Given the description of an element on the screen output the (x, y) to click on. 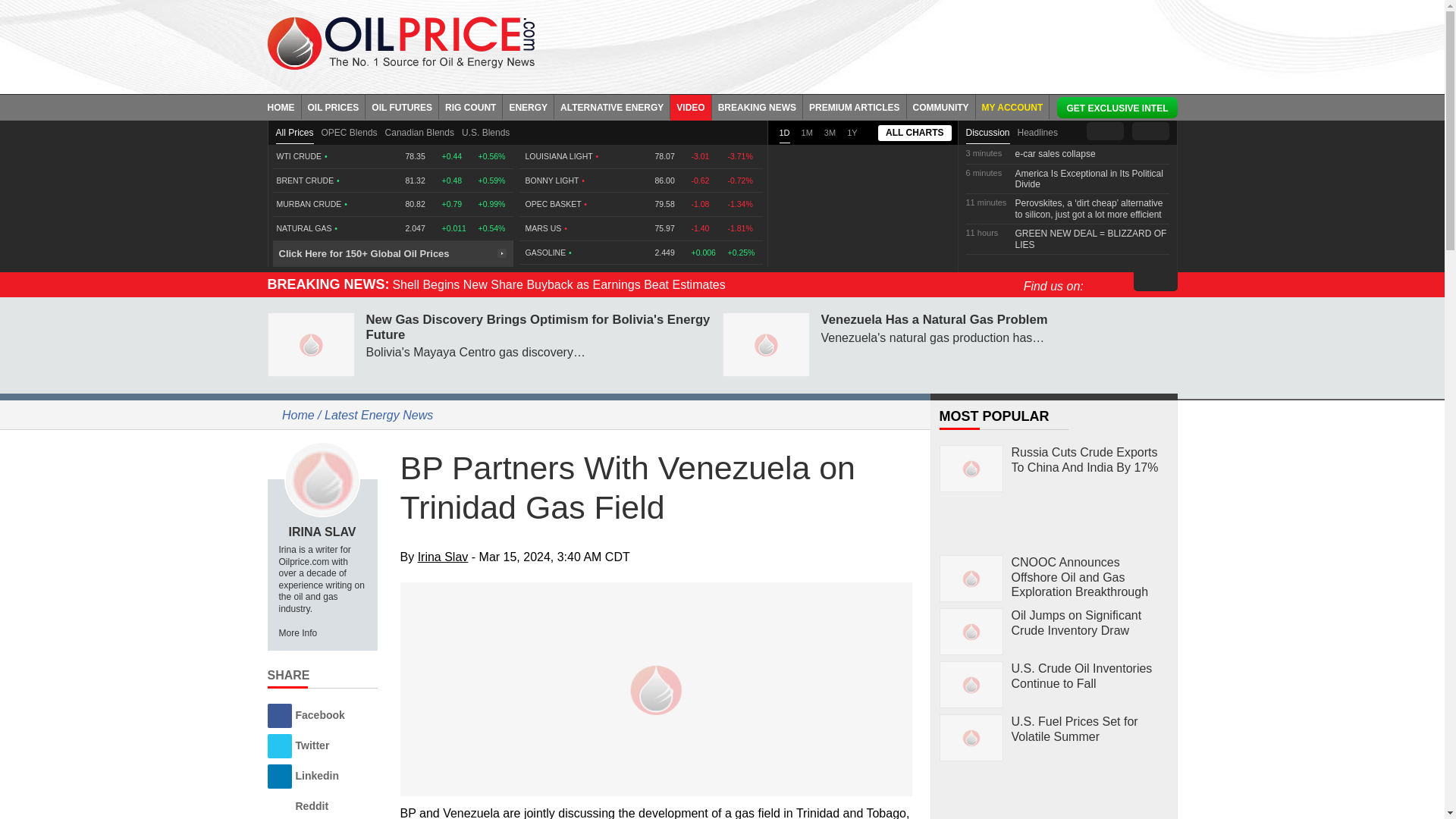
HOME (283, 106)
BREAKING NEWS (757, 106)
MY ACCOUNT (1012, 106)
COMMUNITY (941, 106)
OIL PRICES (333, 106)
Irina Slav (321, 478)
OIL FUTURES (402, 106)
ENERGY (528, 106)
PREMIUM ARTICLES (855, 106)
Oil prices - Oilprice.com (400, 42)
RIG COUNT (470, 106)
VIDEO (690, 106)
ALTERNATIVE ENERGY (611, 106)
